Given the description of an element on the screen output the (x, y) to click on. 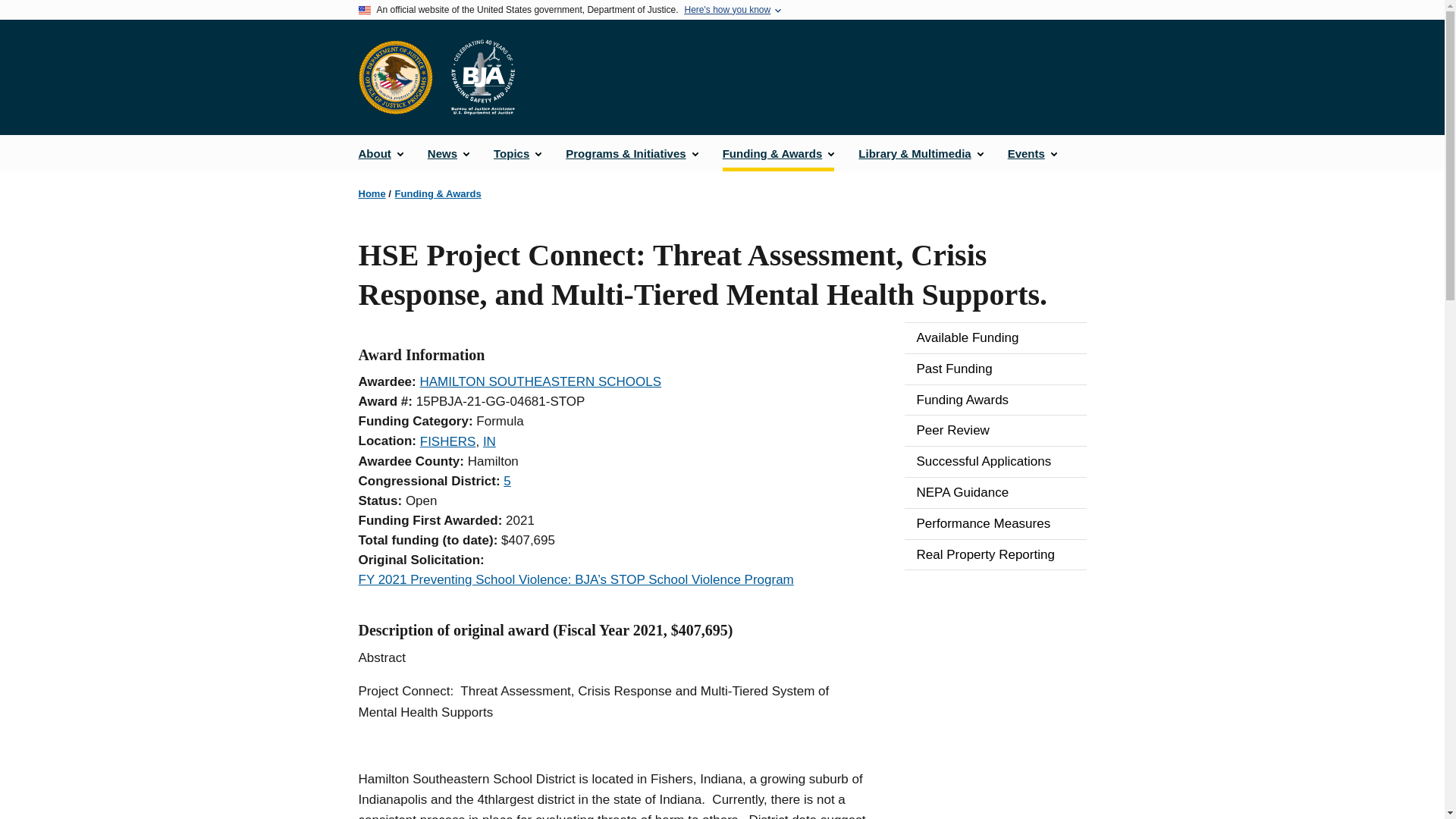
NEPA Guidance (995, 492)
Peer Review (995, 430)
About (380, 153)
Successful Applications (995, 461)
Home (371, 193)
Past Funding (995, 368)
News (447, 153)
Events (1031, 153)
Home (481, 77)
Funding Awards (995, 399)
Performance Measures (995, 523)
Topics (517, 153)
HAMILTON SOUTHEASTERN SCHOOLS (540, 381)
Office of Justice Programs (395, 77)
